Given the description of an element on the screen output the (x, y) to click on. 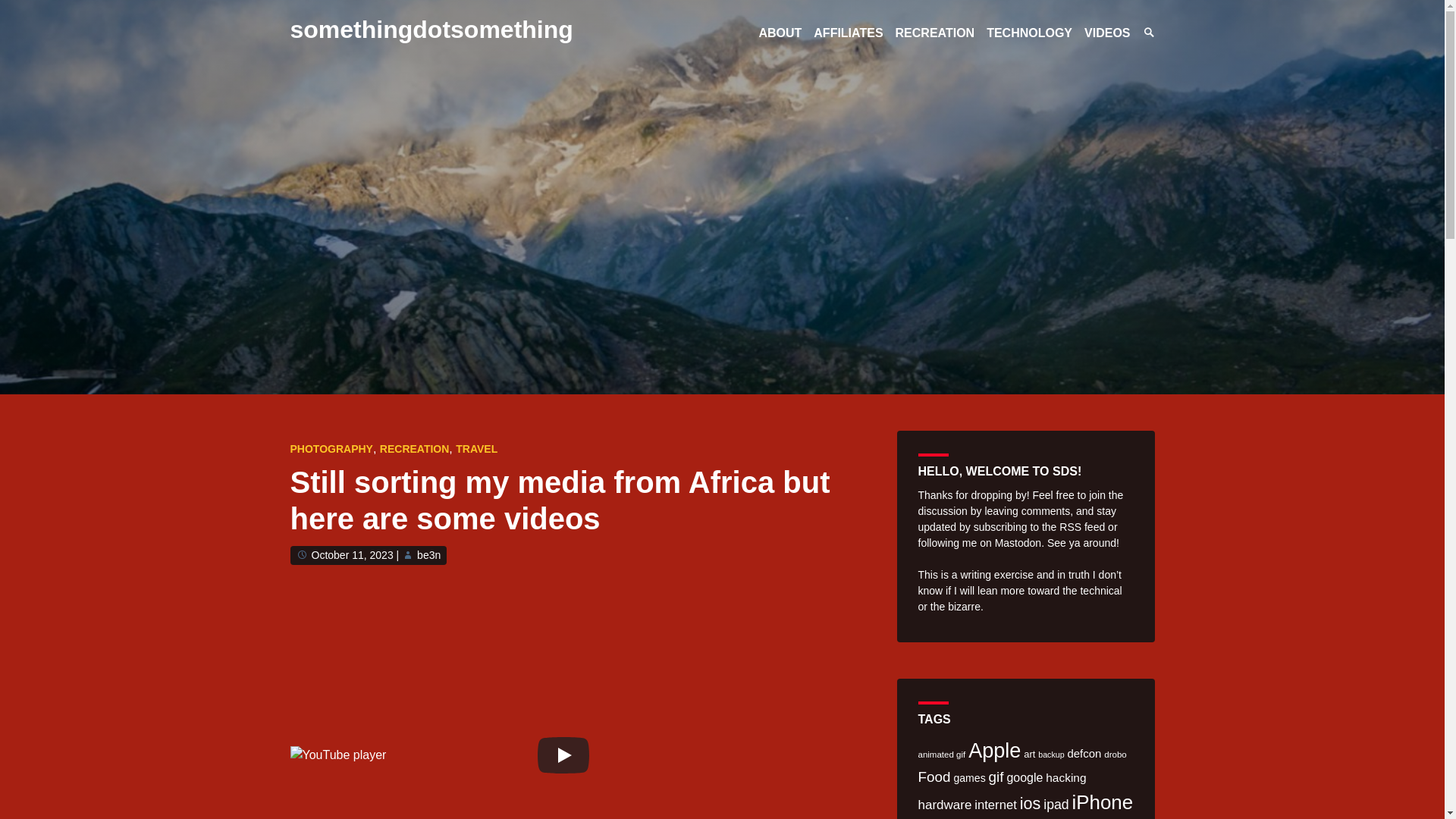
TRAVEL (476, 449)
ABOUT (780, 32)
be3n (428, 554)
RECREATION (414, 449)
backup (1051, 754)
animated gif (941, 754)
somethingdotsomething (430, 29)
Food (933, 776)
Apple (994, 750)
art (1029, 754)
